Given the description of an element on the screen output the (x, y) to click on. 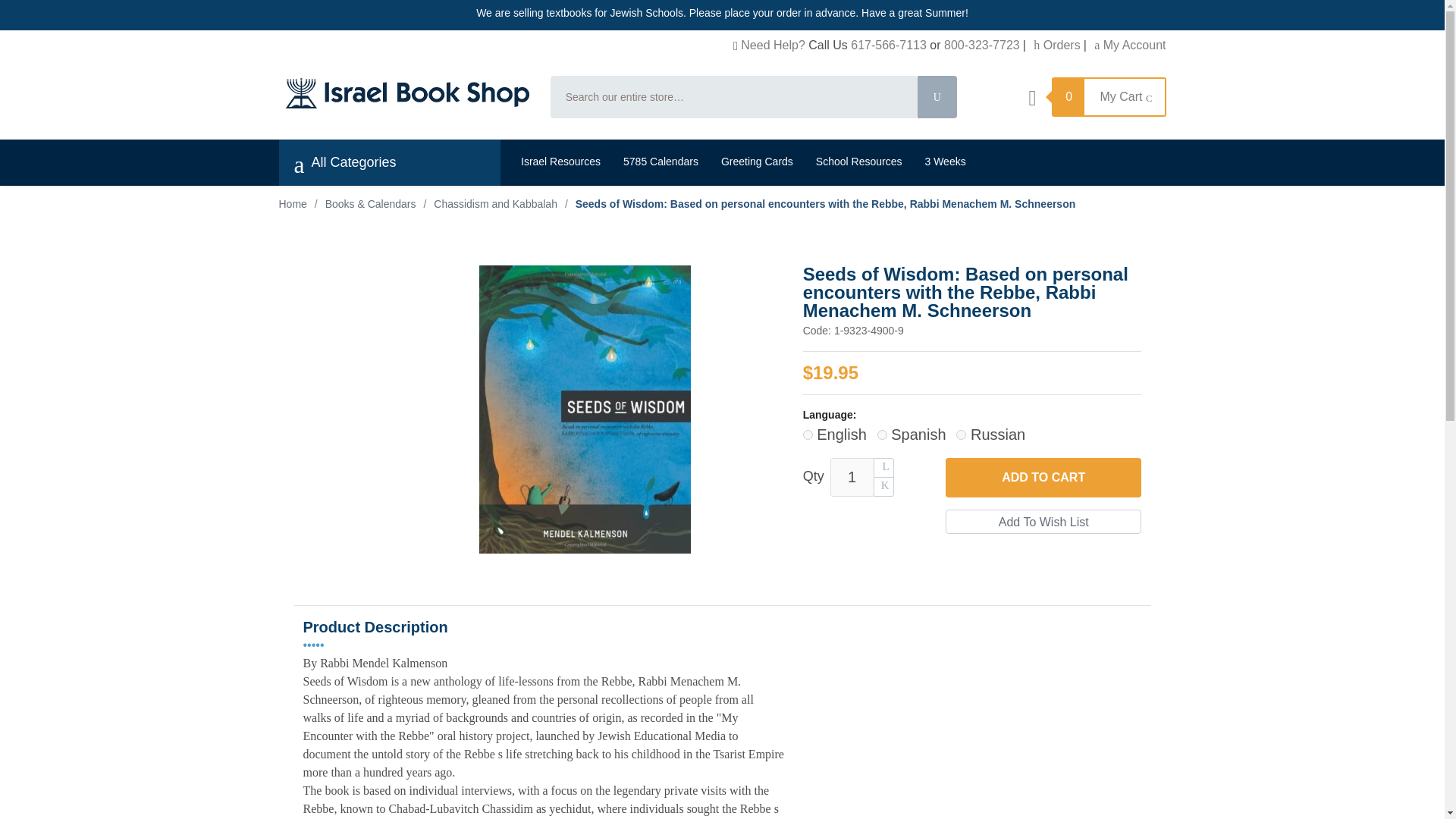
Israel Book Shop (405, 93)
Israel Book Shop Help and Support (773, 44)
Search (936, 96)
Spanish (881, 434)
Russian (961, 434)
Add To Wish List (1042, 521)
1 (852, 476)
English (807, 434)
